Given the description of an element on the screen output the (x, y) to click on. 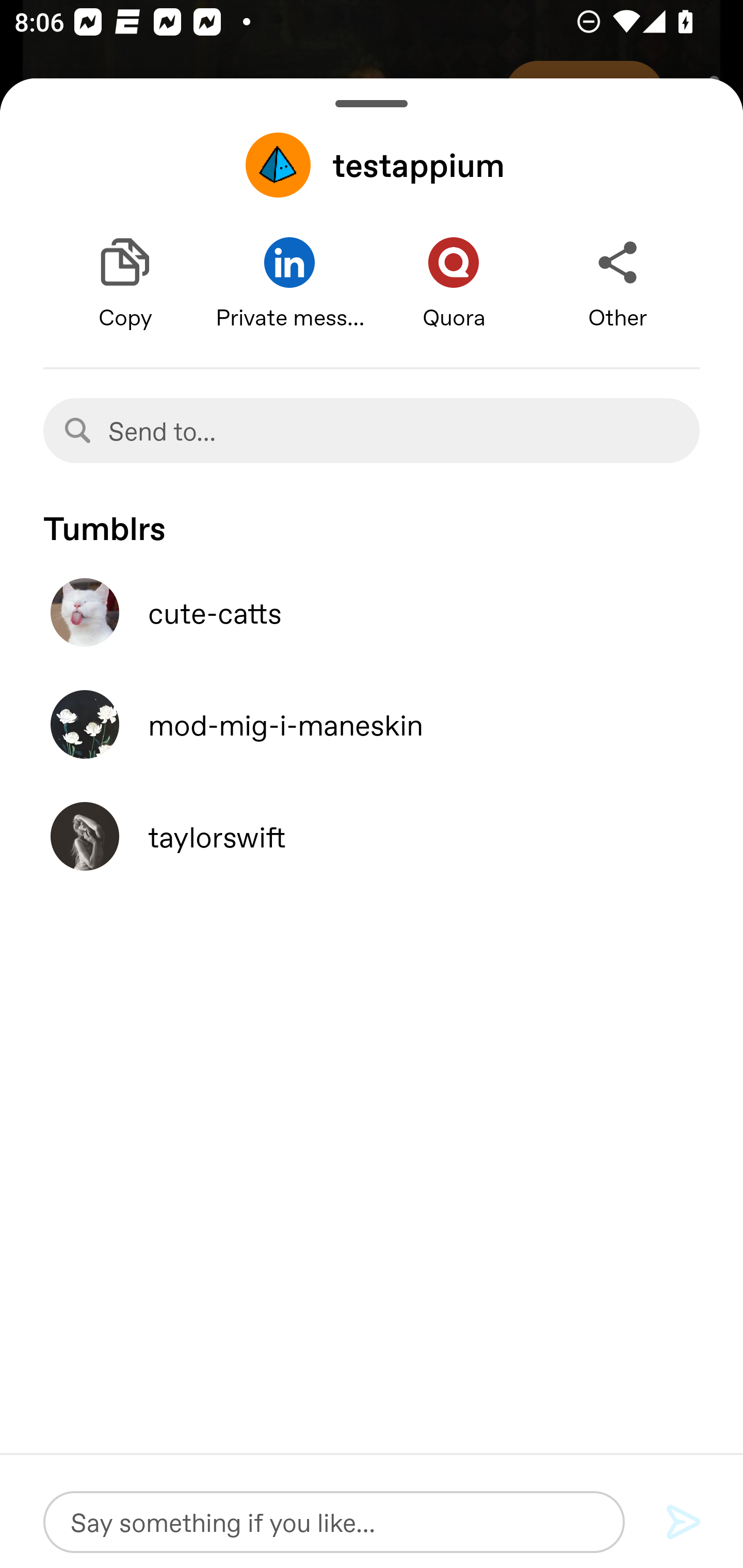
testappium (371, 164)
Copy (125, 284)
Private message (289, 284)
Quora (453, 284)
Other (617, 284)
Send to… (371, 430)
Tumblrs (371, 518)
cute-catts (371, 611)
mod-mig-i-maneskin (371, 723)
taylorswift (371, 836)
Send (683, 1522)
Say something if you like… (333, 1521)
